Given the description of an element on the screen output the (x, y) to click on. 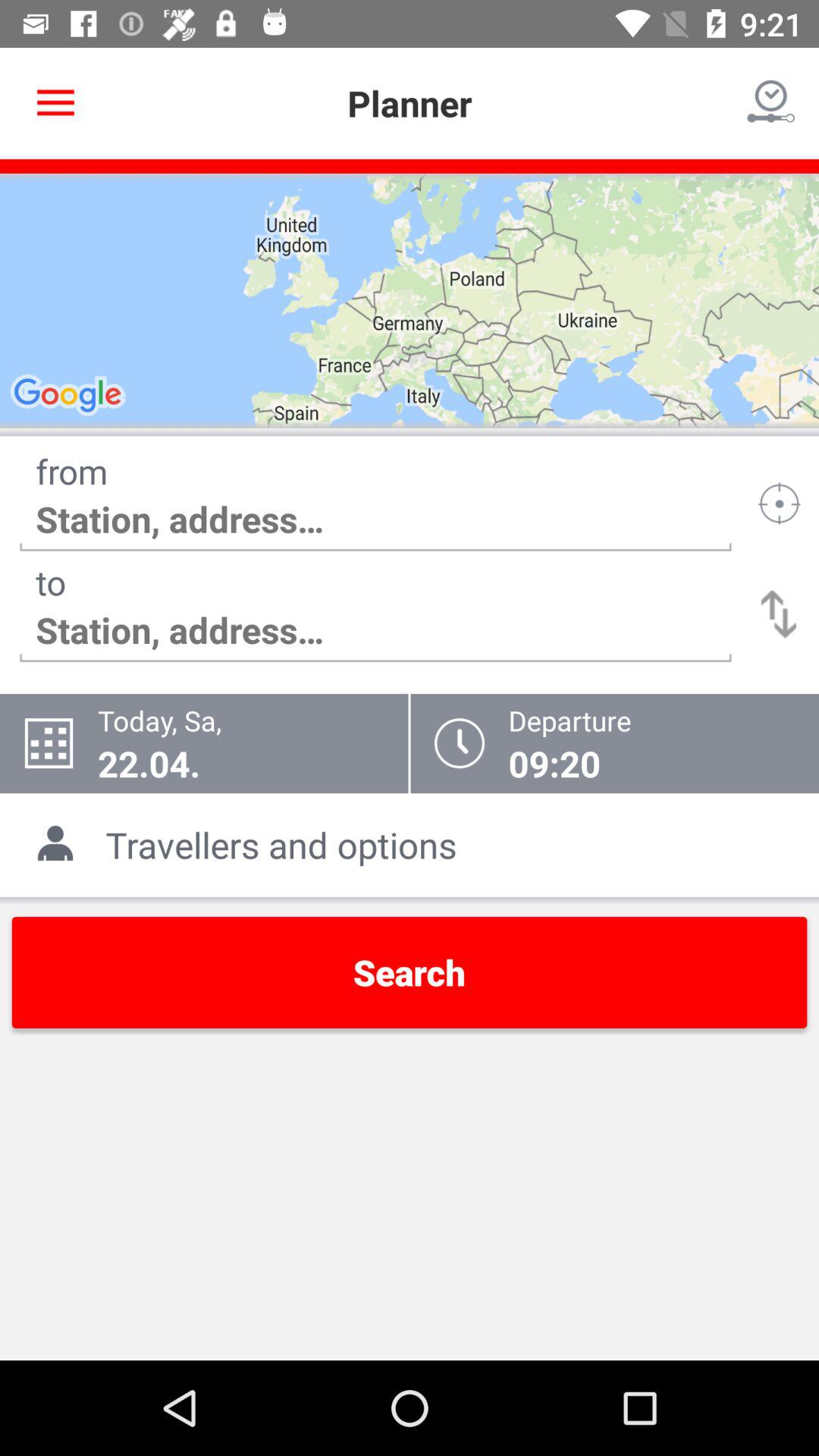
select the item above the to icon (375, 519)
